Given the description of an element on the screen output the (x, y) to click on. 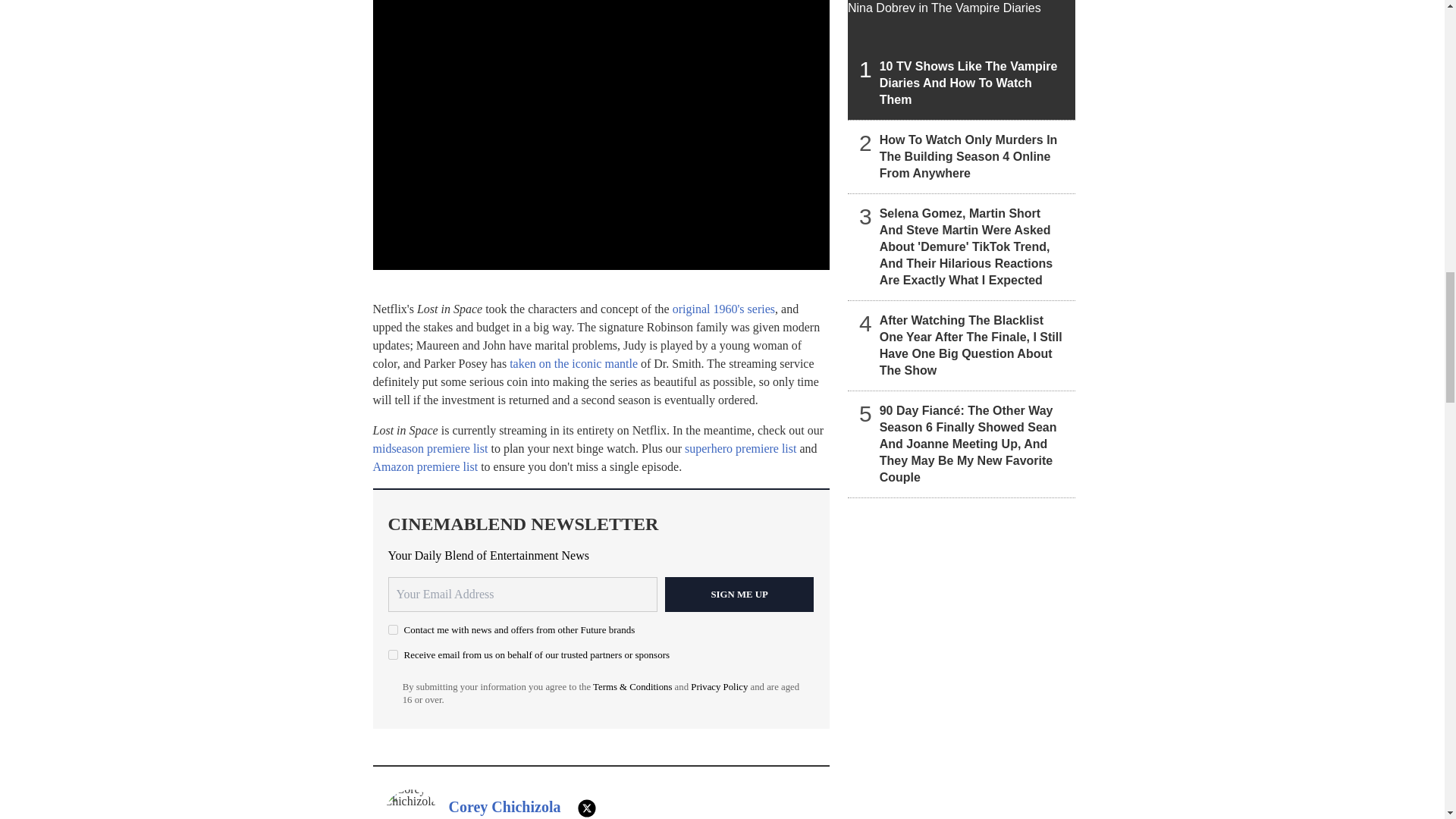
on (392, 629)
10 TV Shows Like The Vampire Diaries And How To Watch Them (961, 59)
Sign me up (739, 594)
on (392, 655)
